Given the description of an element on the screen output the (x, y) to click on. 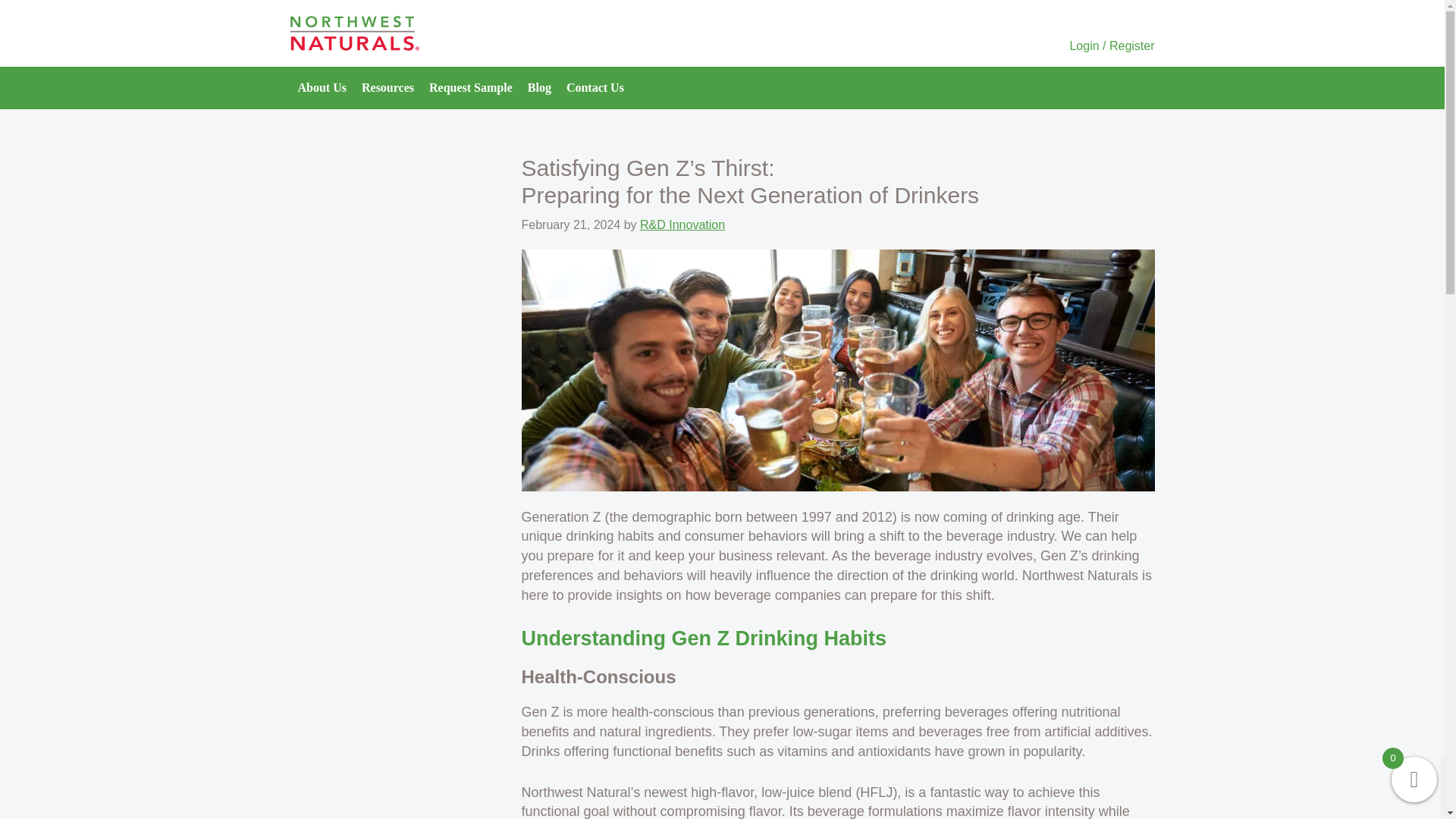
About Us (321, 87)
Request Sample (470, 87)
Blog (539, 87)
Contact Us (595, 87)
Resources (387, 87)
